Given the description of an element on the screen output the (x, y) to click on. 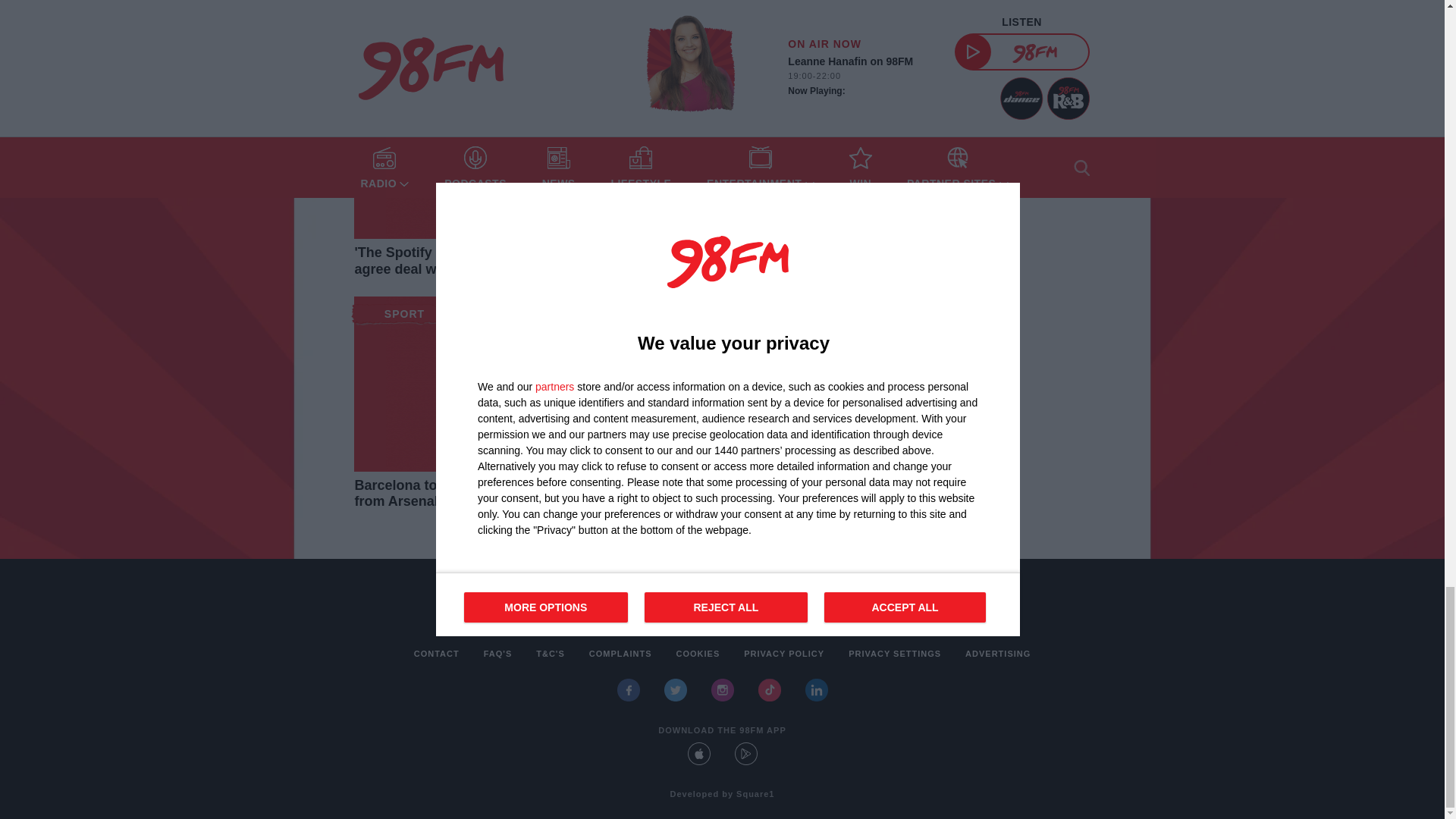
Contact (436, 653)
FAQ's (497, 653)
